Given the description of an element on the screen output the (x, y) to click on. 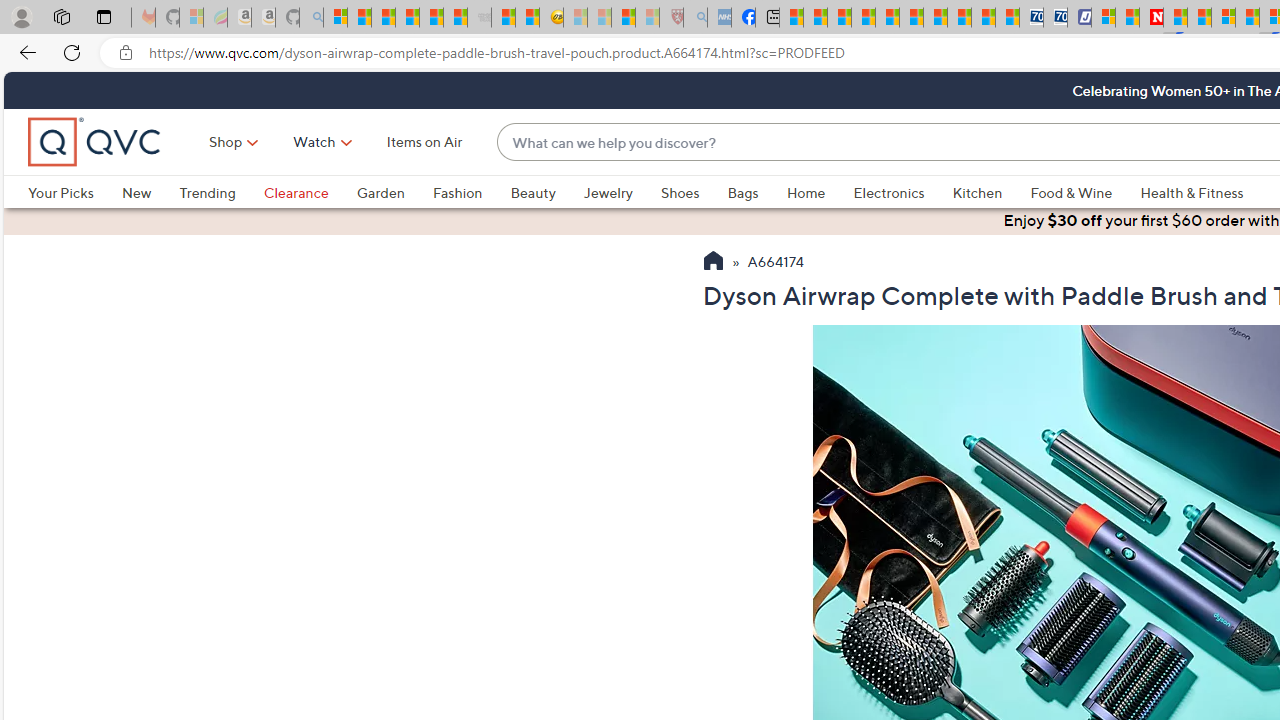
Garden (379, 192)
Jewelry (607, 192)
Clearance (309, 192)
12 Popular Science Lies that Must be Corrected - Sleeping (647, 17)
Kitchen (991, 192)
Fashion (471, 192)
